Given the description of an element on the screen output the (x, y) to click on. 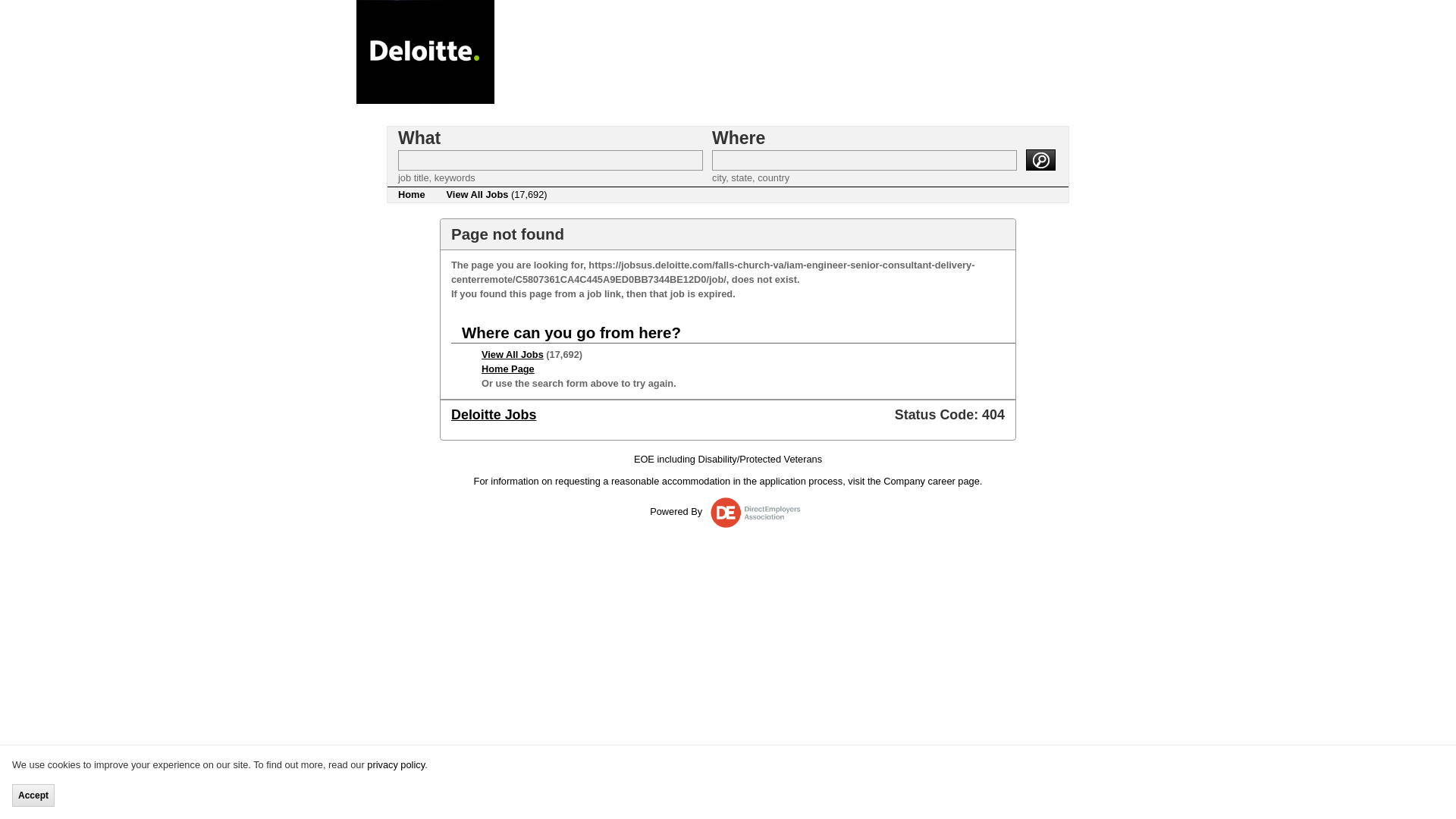
Search Location (863, 159)
Home (411, 193)
search (1040, 158)
Search Phrase (550, 159)
visit the Company career page (913, 480)
Submit Search (1040, 158)
search (1040, 158)
Deloitte Jobs (493, 414)
View All Jobs (512, 354)
requesting a reasonable accommodation (642, 480)
Home Page (507, 368)
